Given the description of an element on the screen output the (x, y) to click on. 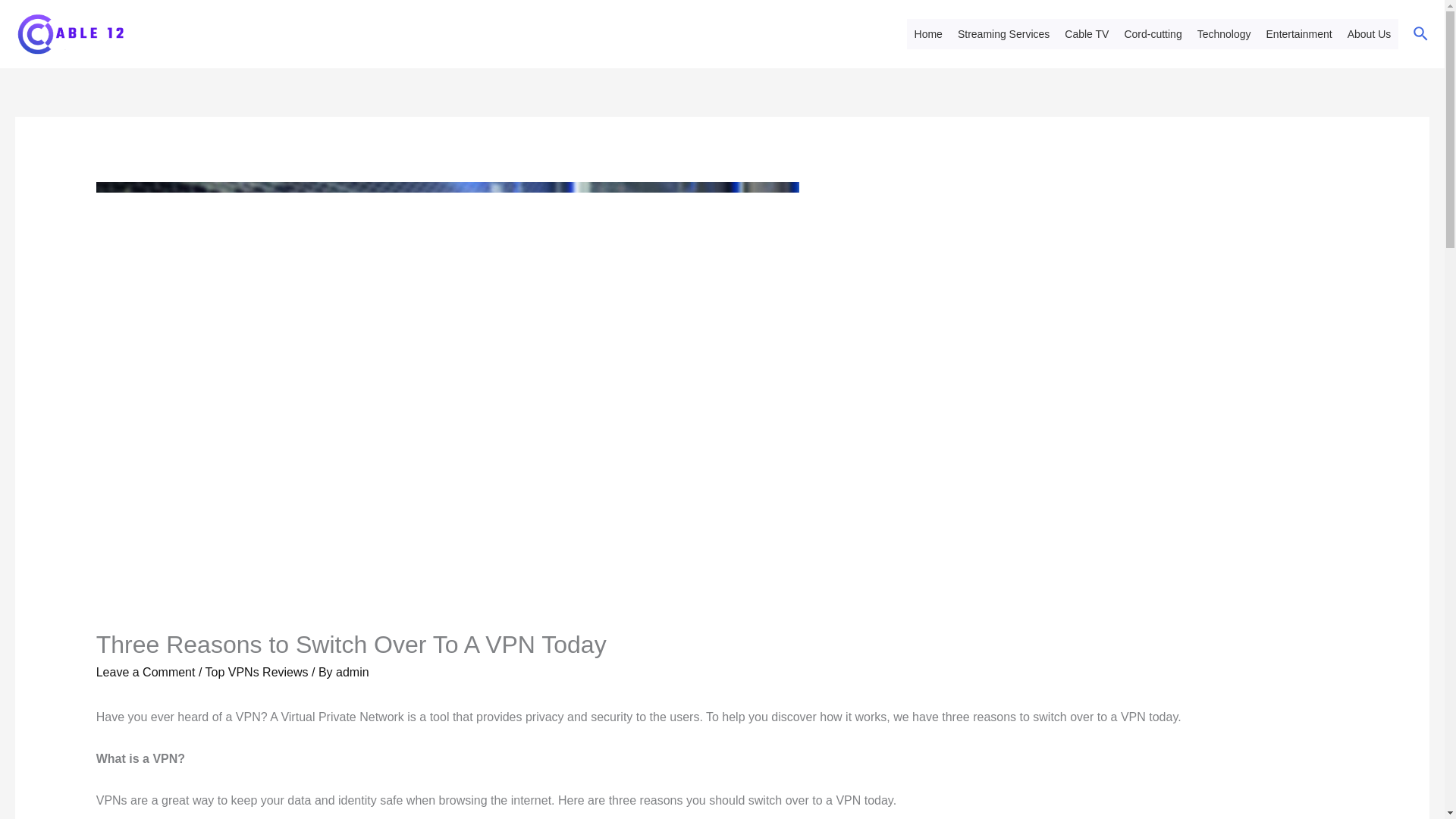
admin (352, 671)
Cord-cutting (1152, 33)
View all posts by admin (352, 671)
Streaming Services (1003, 33)
Technology (1224, 33)
Cable TV (1086, 33)
Entertainment (1299, 33)
About Us (1369, 33)
Top VPNs Reviews (256, 671)
Leave a Comment (145, 671)
